Given the description of an element on the screen output the (x, y) to click on. 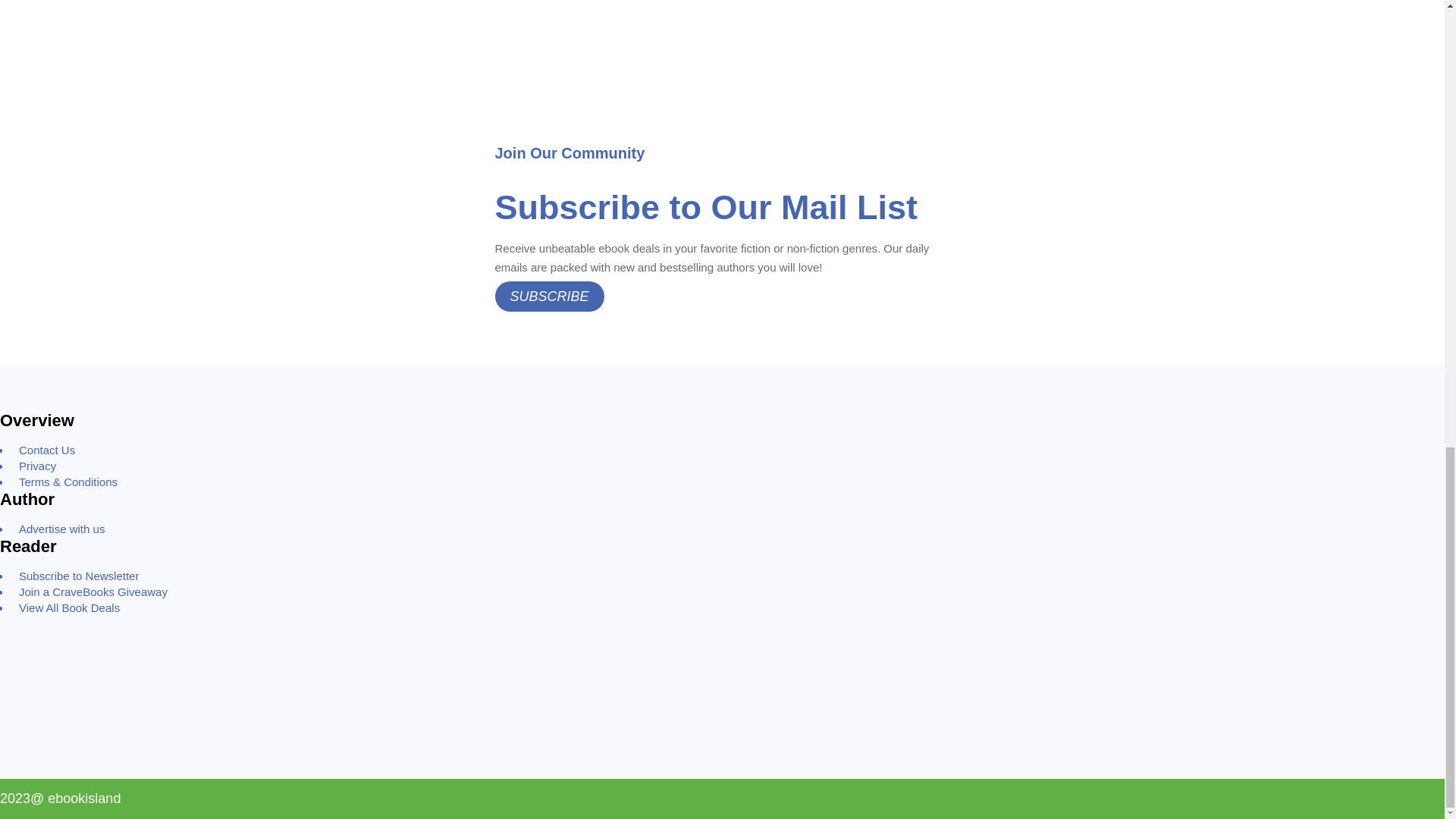
View All Book Deals (69, 607)
Privacy (37, 465)
Join a CraveBooks Giveaway (92, 591)
SUBSCRIBE (549, 296)
Contact Us (46, 449)
Advertise with us (61, 528)
Subscribe to Newsletter (79, 575)
